Given the description of an element on the screen output the (x, y) to click on. 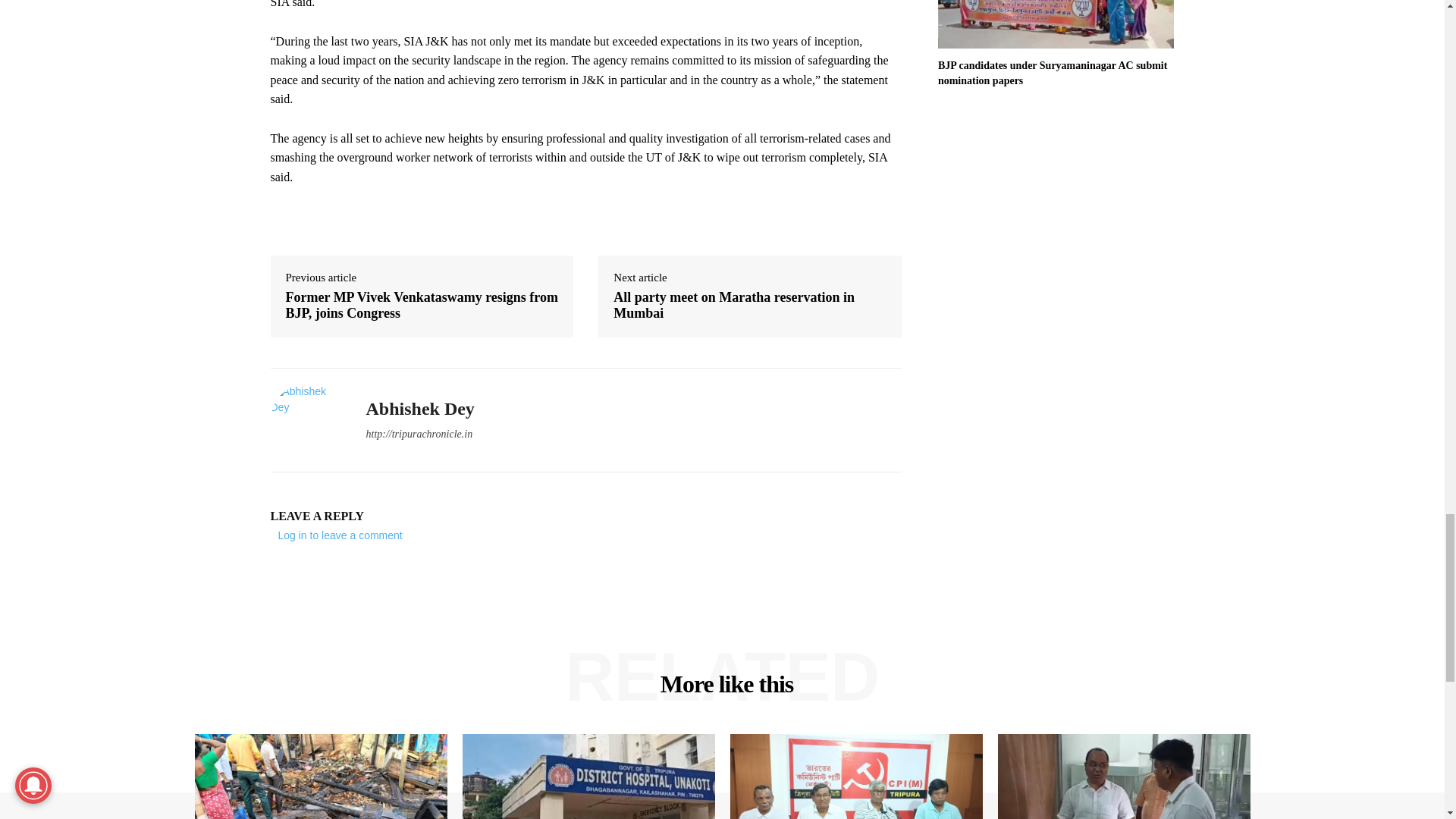
Abhishek Dey (305, 420)
